Given the description of an element on the screen output the (x, y) to click on. 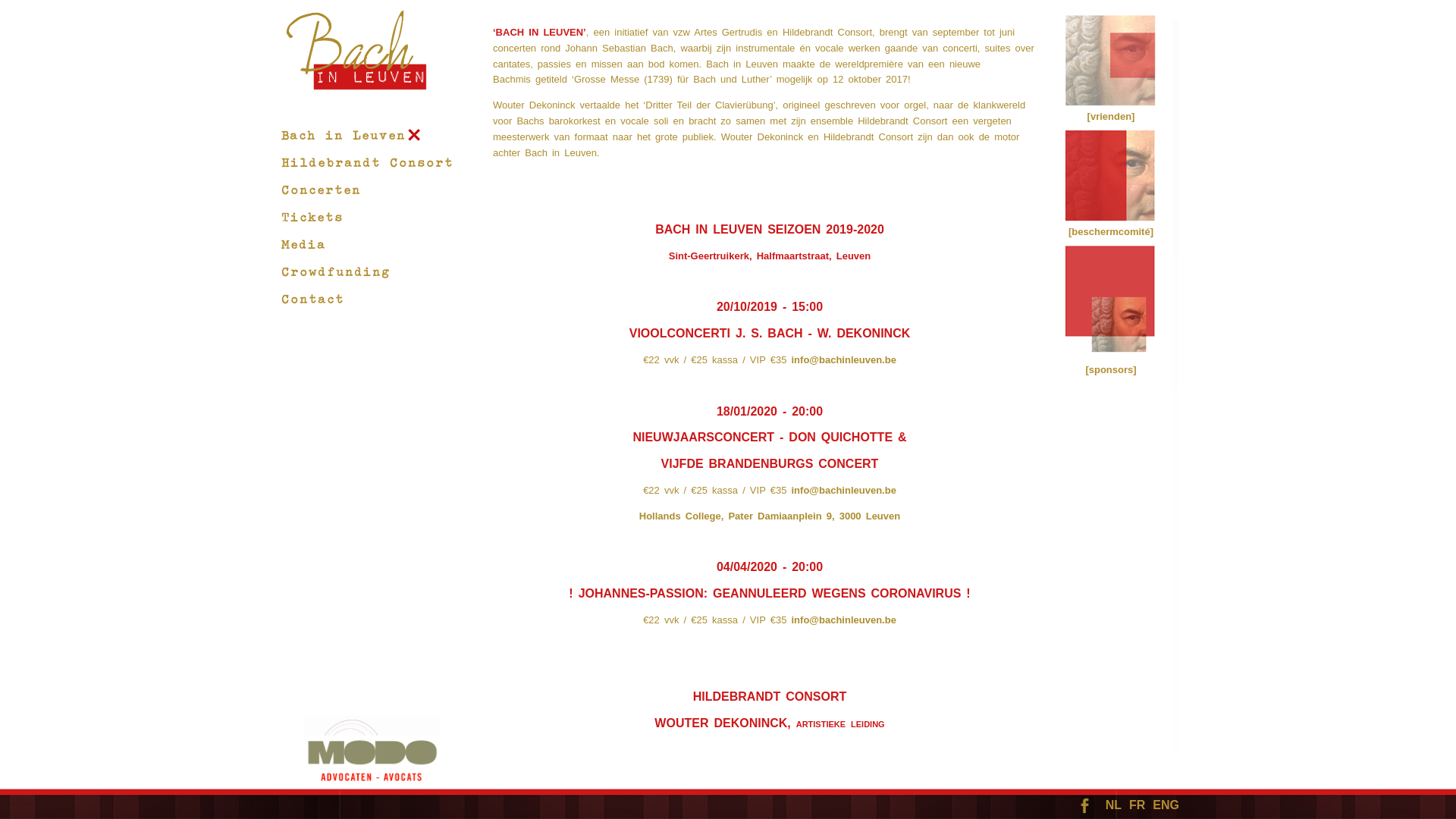
Hildebrandt Consort Element type: text (366, 161)
[sponsors] Element type: text (1110, 369)
Tickets Element type: text (311, 216)
FR Element type: text (1133, 804)
Crowdfunding Element type: text (334, 271)
ENG Element type: text (1162, 804)
Media Element type: text (302, 243)
Contact Element type: text (311, 298)
Concerten Element type: text (320, 189)
NL Element type: text (1109, 804)
[vrienden] Element type: text (1111, 116)
Bach in Leuven Element type: text (350, 134)
